Given the description of an element on the screen output the (x, y) to click on. 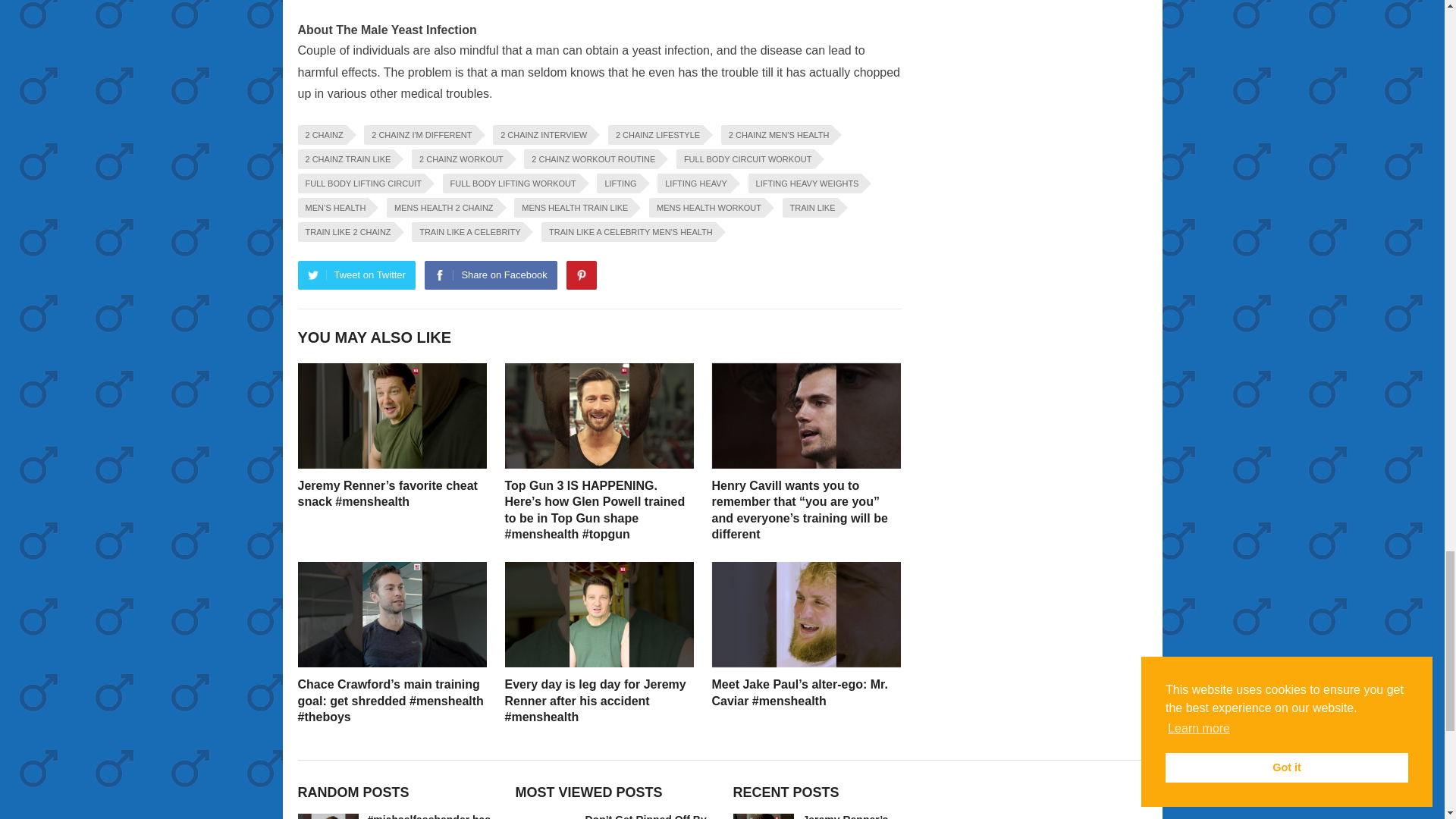
2 CHAINZ (321, 134)
2 CHAINZ LIFESTYLE (655, 134)
2 CHAINZ I'M DIFFERENT (419, 134)
2 CHAINZ INTERVIEW (541, 134)
